Given the description of an element on the screen output the (x, y) to click on. 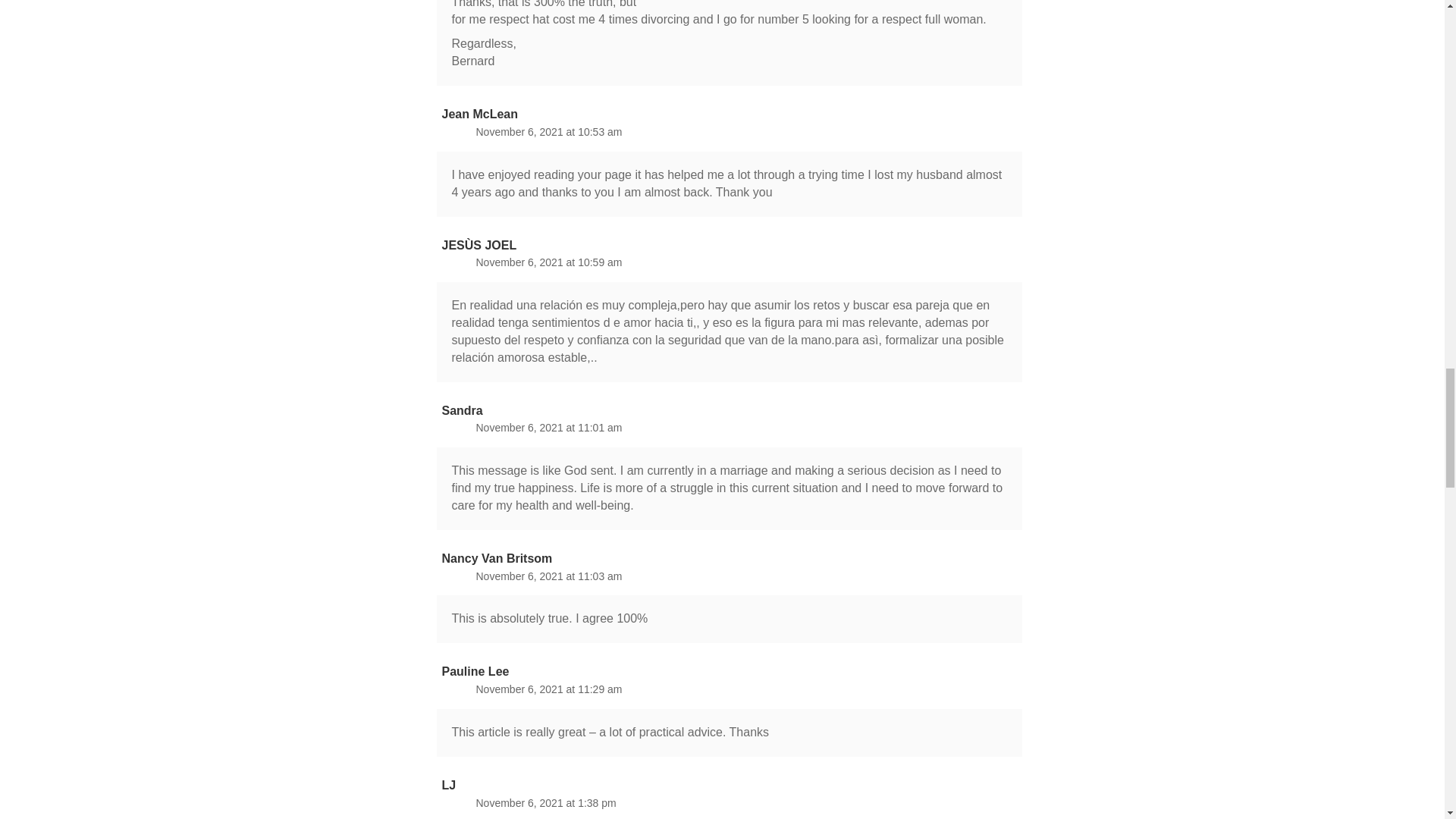
November 6, 2021 at 11:03 am (549, 575)
November 6, 2021 at 1:38 pm (545, 802)
November 6, 2021 at 11:29 am (549, 688)
November 6, 2021 at 10:59 am (549, 261)
November 6, 2021 at 11:01 am (549, 427)
November 6, 2021 at 10:53 am (549, 131)
